Given the description of an element on the screen output the (x, y) to click on. 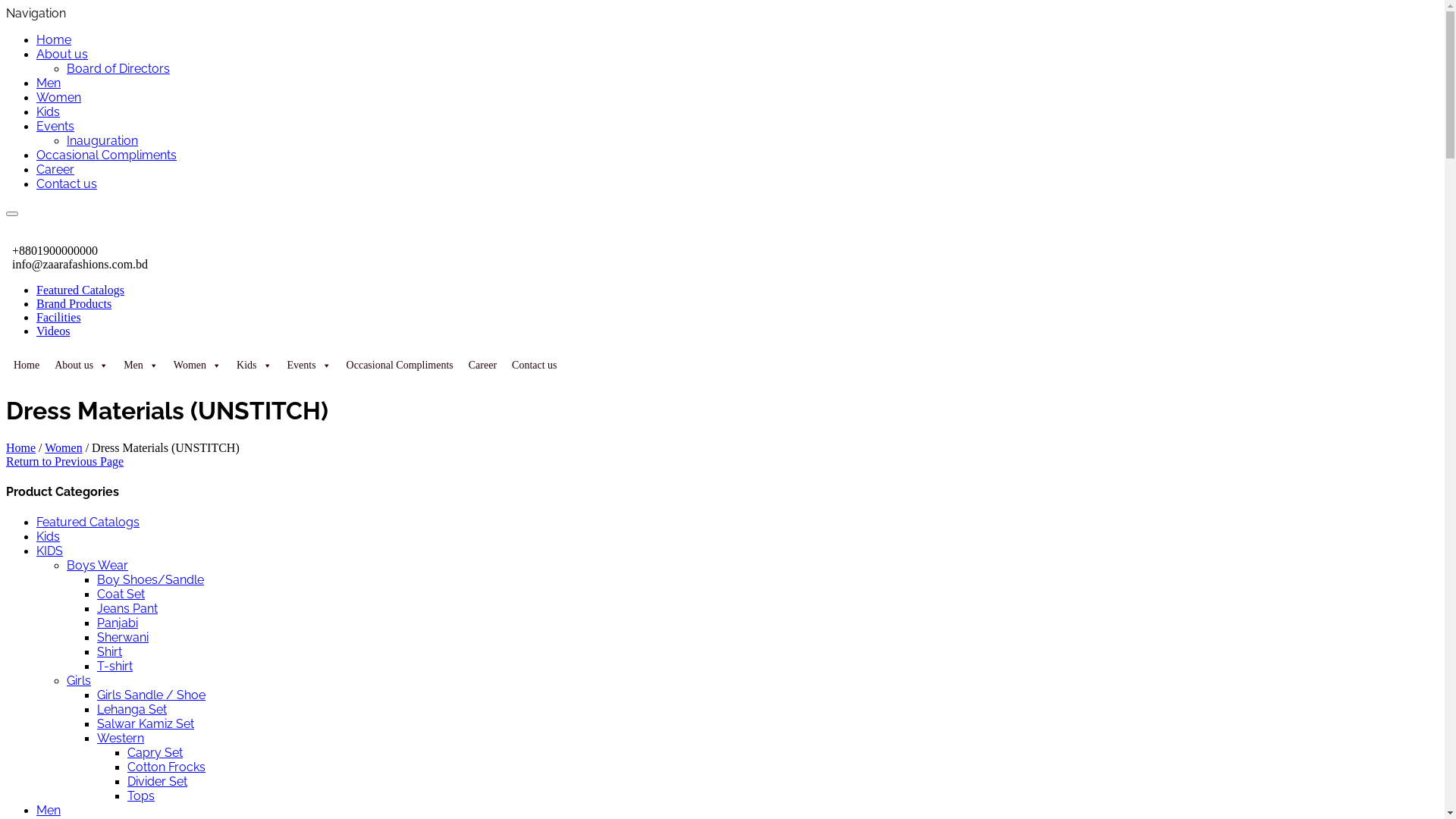
Coat Set Element type: text (120, 593)
Divider Set Element type: text (157, 781)
Inauguration Element type: text (102, 140)
Kids Element type: text (47, 536)
Men Element type: text (48, 810)
Girls Sandle / Shoe Element type: text (151, 694)
Occasional Compliments Element type: text (106, 154)
Jeans Pant Element type: text (127, 608)
Kids Element type: text (254, 365)
Brand Products Element type: text (73, 303)
Home Element type: text (26, 365)
Contact us Element type: text (534, 365)
Videos Element type: text (52, 330)
Board of Directors Element type: text (117, 68)
Events Element type: text (55, 126)
About us Element type: text (61, 54)
Cotton Frocks Element type: text (166, 766)
Lehanga Set Element type: text (131, 709)
Western Element type: text (120, 738)
Return to Previous Page Element type: text (64, 461)
Women Element type: text (62, 447)
Career Element type: text (482, 365)
T-shirt Element type: text (114, 665)
Featured Catalogs Element type: text (87, 521)
Home Element type: text (53, 39)
Home Element type: text (20, 447)
Panjabi Element type: text (117, 622)
Career Element type: text (55, 169)
Men Element type: text (141, 365)
KIDS Element type: text (49, 550)
Occasional Compliments Element type: text (399, 365)
Tops Element type: text (140, 795)
Men Element type: text (48, 82)
Sherwani Element type: text (122, 637)
Boy Shoes/Sandle Element type: text (150, 579)
About us Element type: text (81, 365)
Girls Element type: text (78, 680)
Featured Catalogs Element type: text (80, 289)
Kids Element type: text (47, 111)
Women Element type: text (58, 97)
Women Element type: text (197, 365)
Shirt Element type: text (109, 651)
Capry Set Element type: text (154, 752)
Facilities Element type: text (58, 316)
Contact us Element type: text (66, 183)
Boys Wear Element type: text (97, 565)
Events Element type: text (308, 365)
Salwar Kamiz Set Element type: text (145, 723)
